Given the description of an element on the screen output the (x, y) to click on. 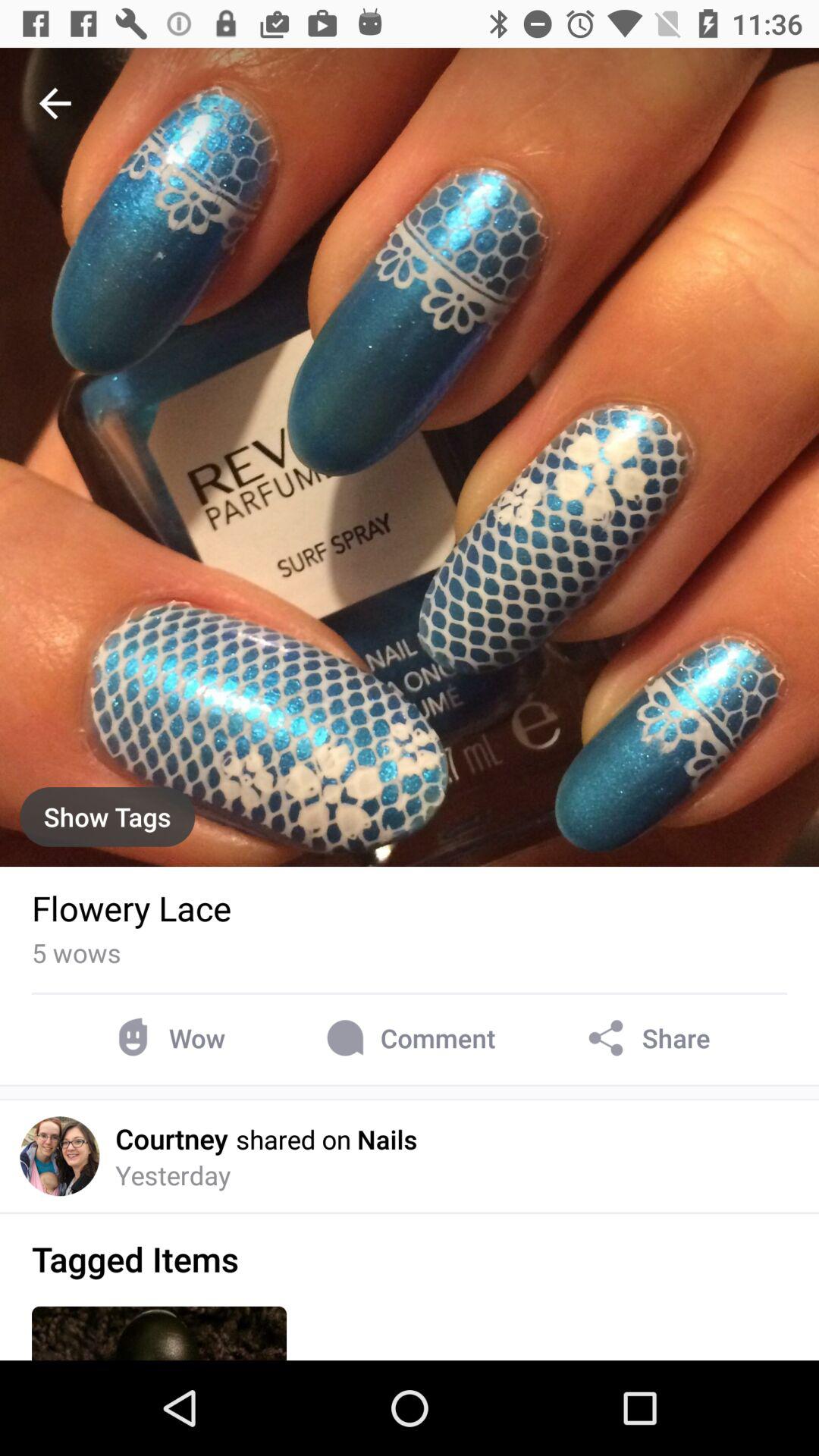
tap item next to comment item (646, 1038)
